Given the description of an element on the screen output the (x, y) to click on. 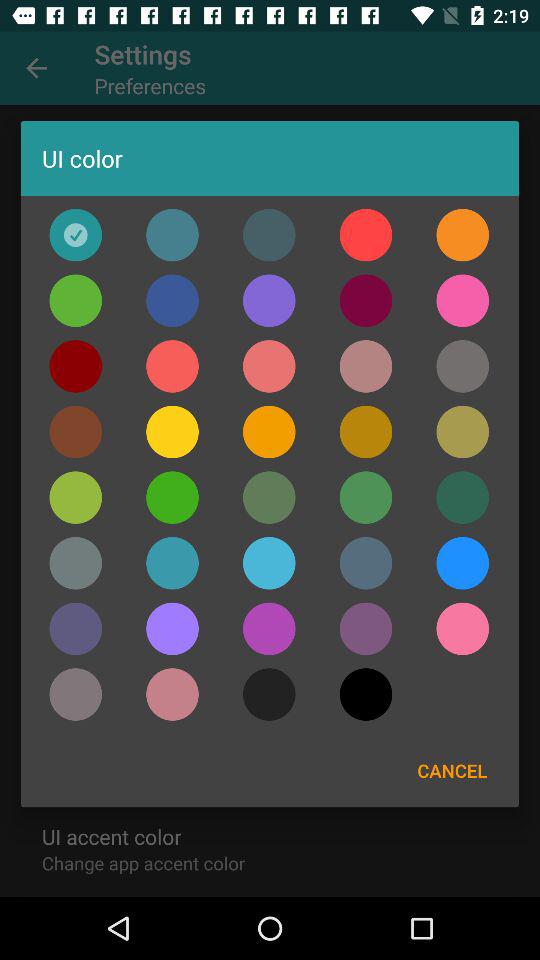
select ui color blue (172, 563)
